Given the description of an element on the screen output the (x, y) to click on. 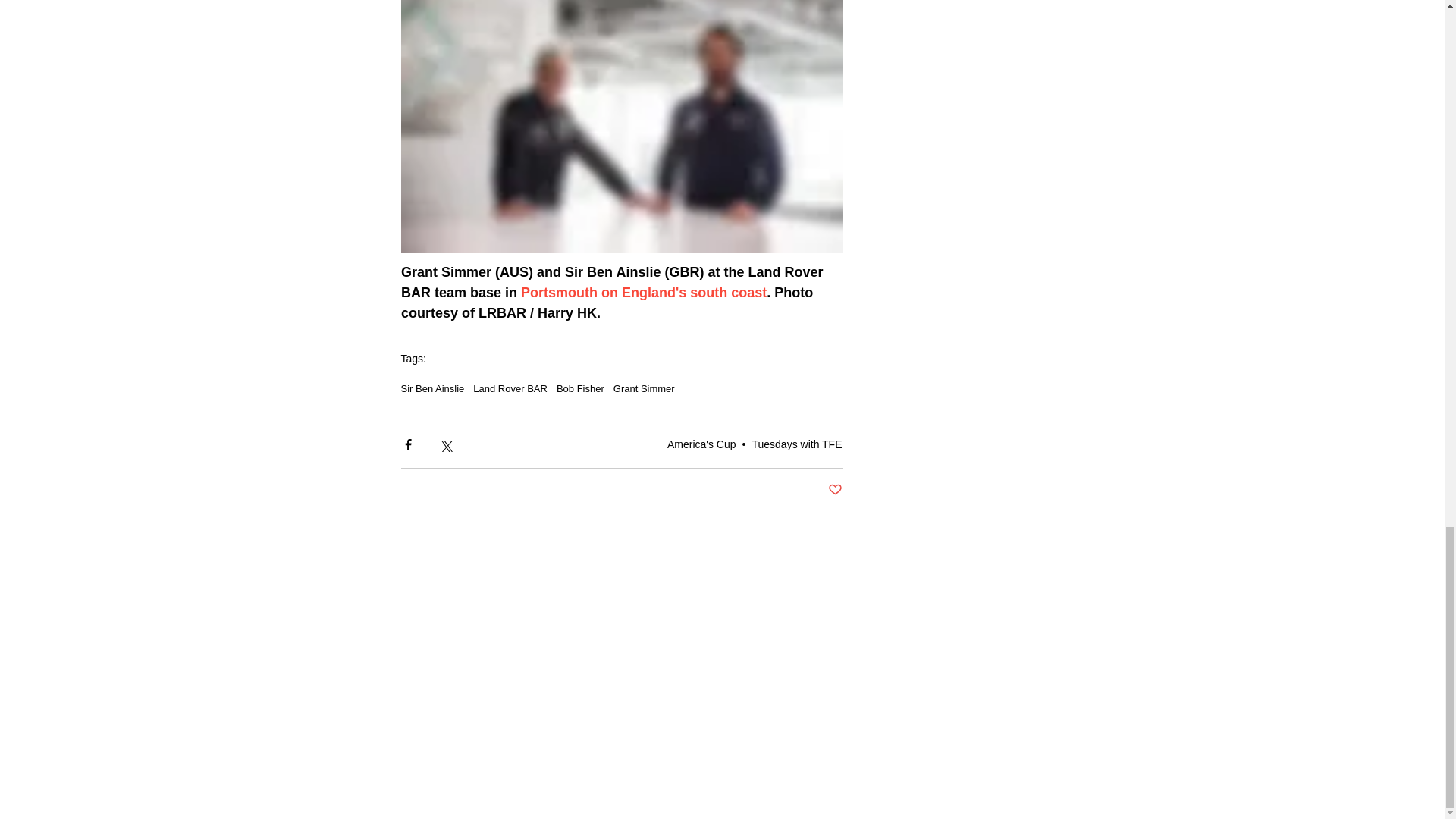
Bob Fisher (580, 388)
Grant Simmer (643, 388)
Post not marked as liked (835, 489)
America's Cup (701, 444)
Land Rover BAR (510, 388)
Tuesdays with TFE (796, 444)
Sir Ben Ainslie (432, 388)
Portsmouth on England's south coast (644, 292)
